Given the description of an element on the screen output the (x, y) to click on. 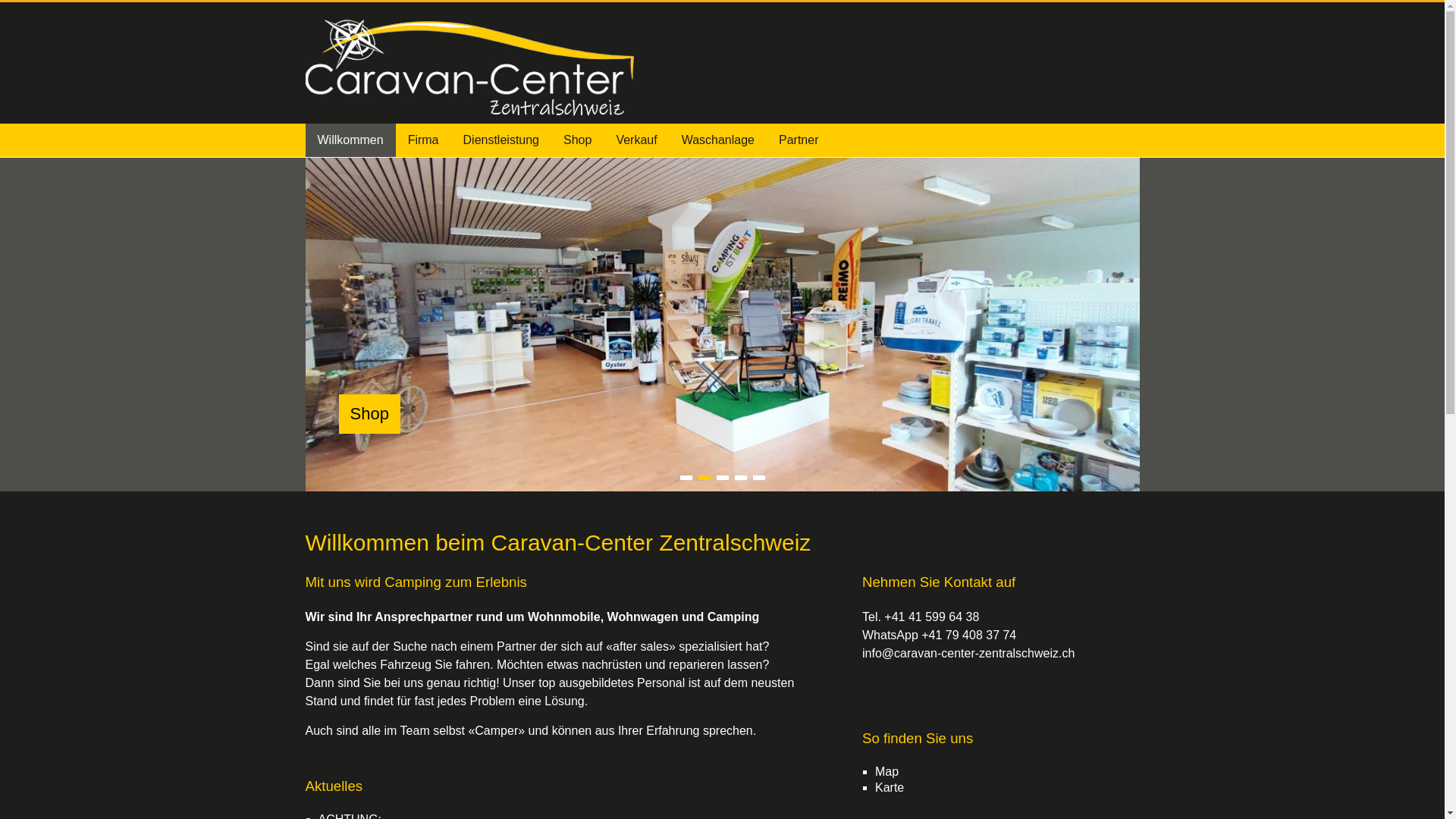
Dienstleistung Element type: text (501, 139)
Partner Element type: text (798, 139)
Willkommen Element type: text (349, 139)
Waschanlage Element type: text (717, 139)
Shop Element type: hover (721, 164)
info@caravan-center-zentralschweiz.ch Element type: text (968, 652)
Caravan Center Zentralschweiz Element type: text (395, 73)
Verkauf Element type: text (635, 139)
Firma Element type: text (423, 139)
Map Element type: text (886, 771)
Shop Element type: text (577, 139)
Shop Element type: text (368, 413)
Karte Element type: text (889, 787)
Caravan Center Zentralschweiz Element type: text (466, 413)
